Given the description of an element on the screen output the (x, y) to click on. 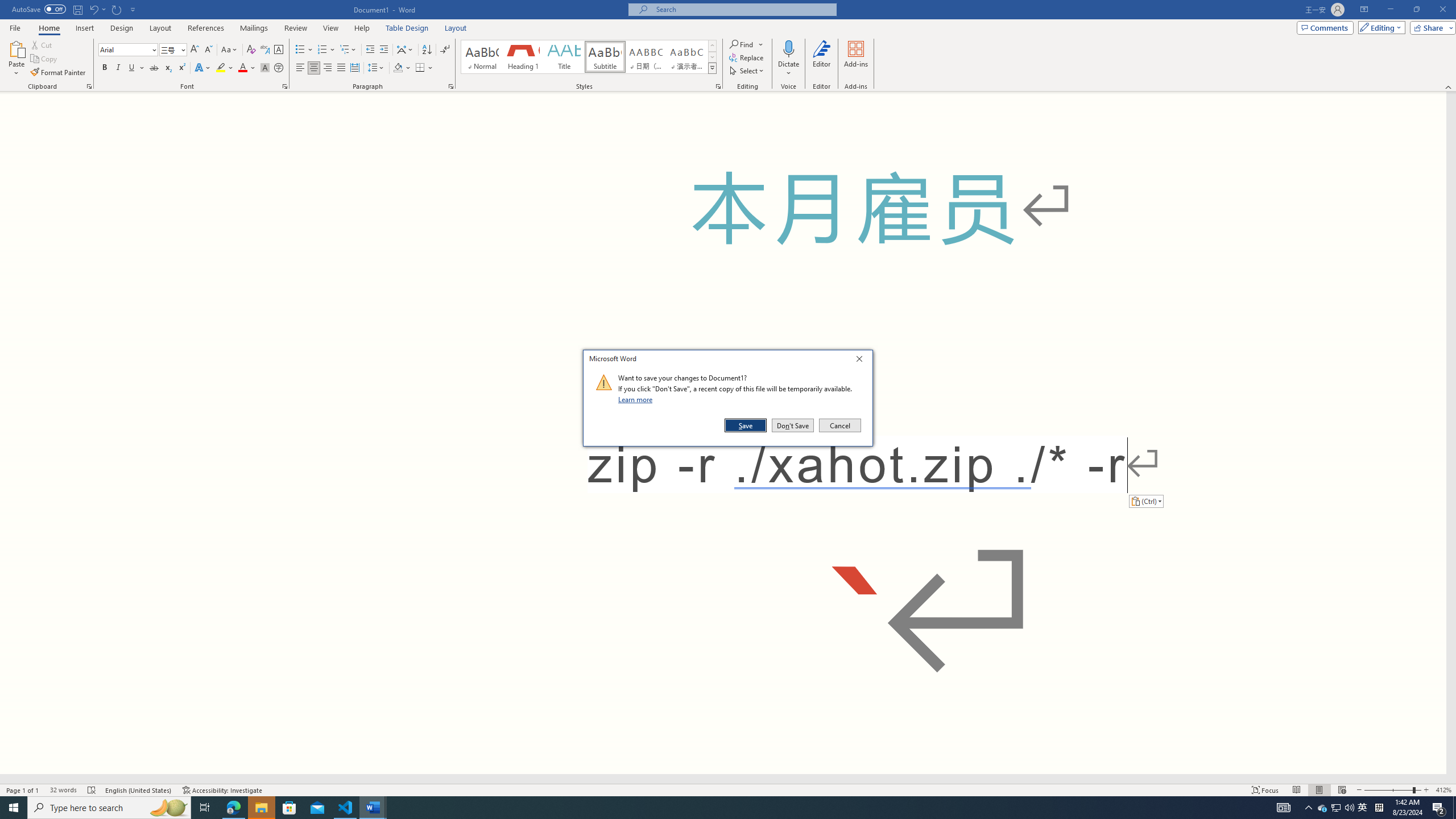
Format Painter (58, 72)
Replace... (747, 56)
Ribbon Display Options (1364, 9)
Office Clipboard... (88, 85)
Distributed (354, 67)
Open (182, 49)
Class: NetUIImage (603, 382)
Q2790: 100% (1349, 807)
Underline (131, 67)
Word - 2 running windows (373, 807)
Paste (16, 48)
Row up (711, 45)
Restore Down (1416, 9)
